Given the description of an element on the screen output the (x, y) to click on. 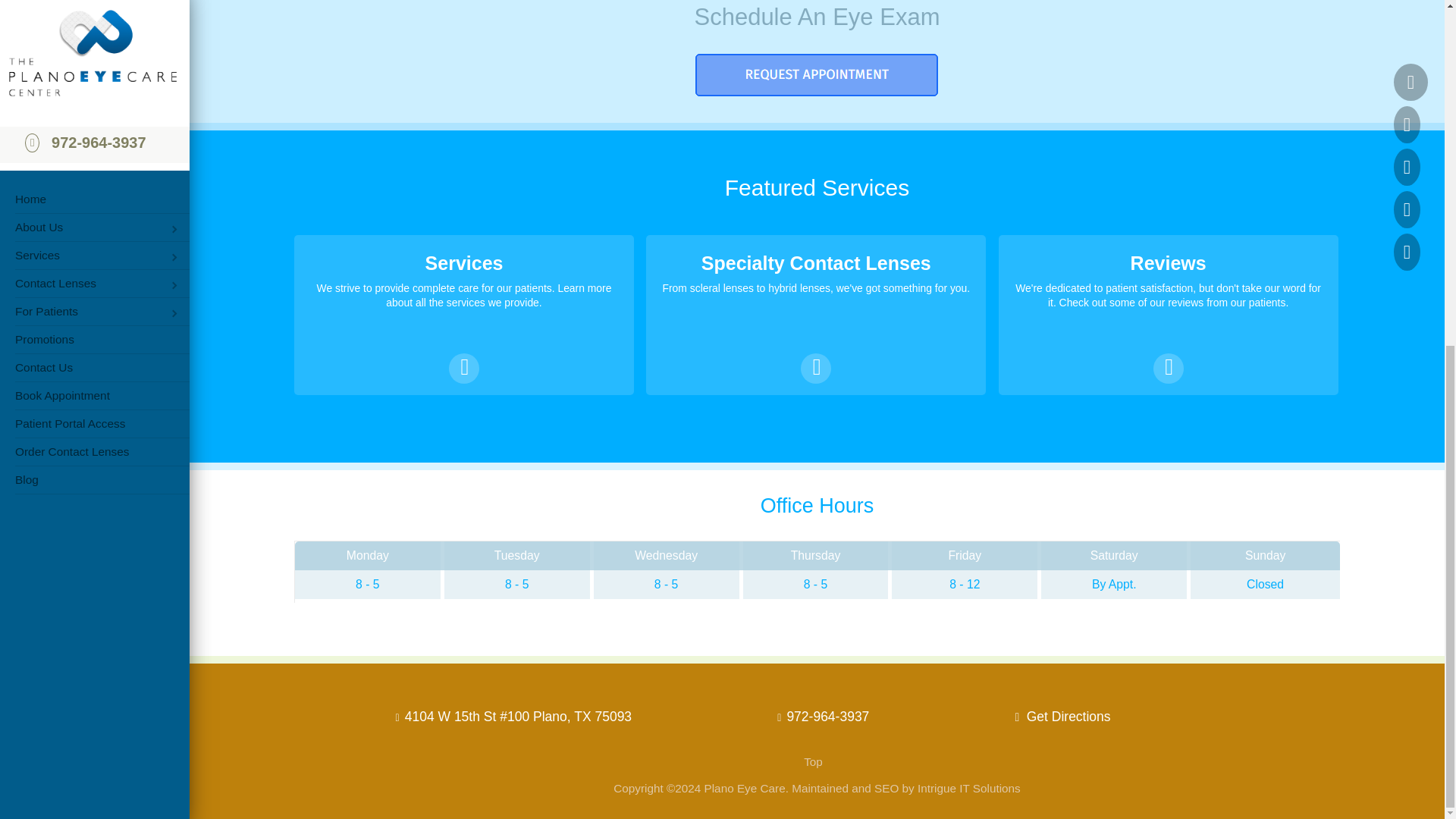
Top (812, 762)
Scroll to top (812, 762)
